Given the description of an element on the screen output the (x, y) to click on. 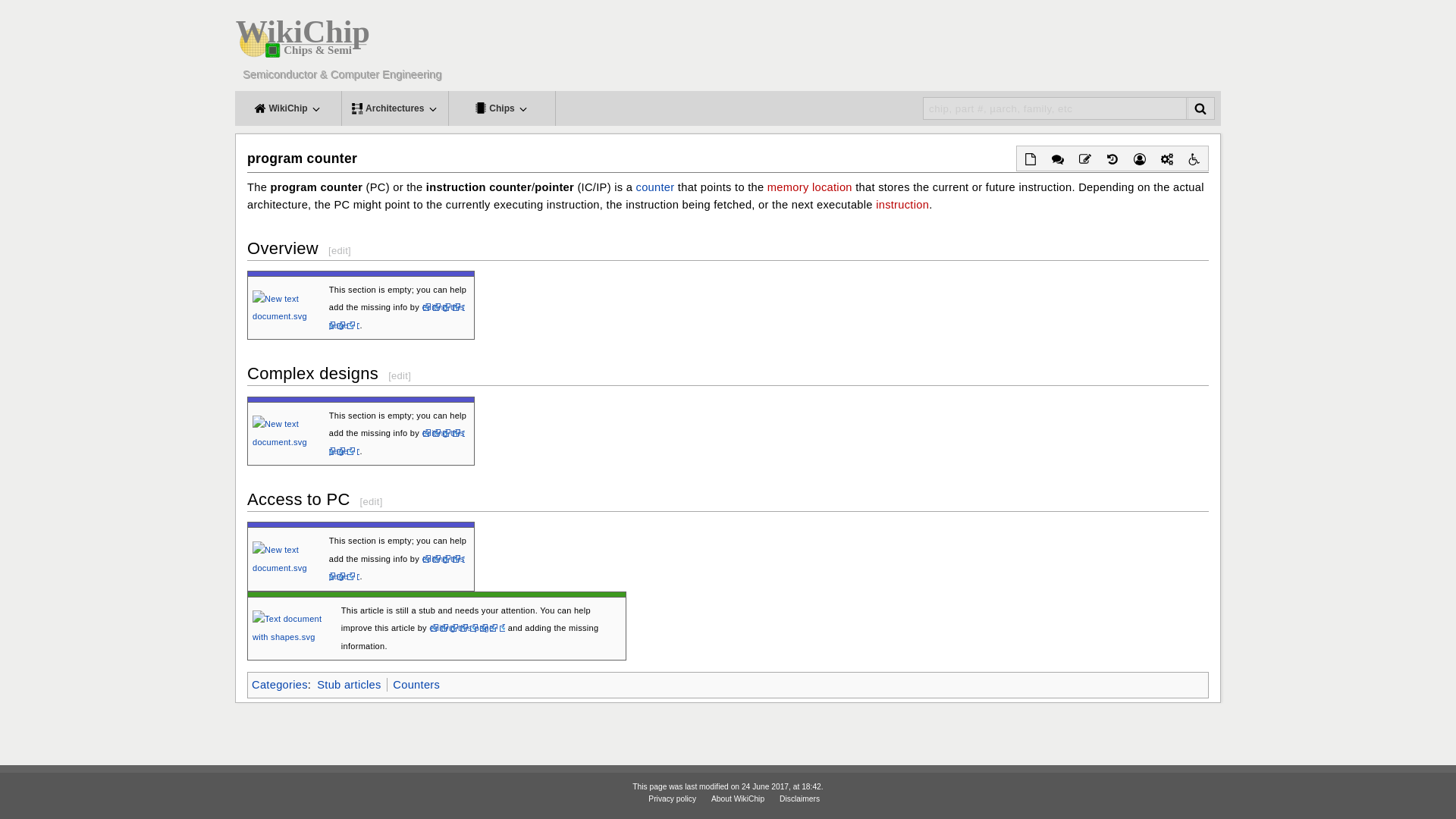
Edit section: Complex designs (399, 375)
Edit section: Overview (339, 250)
Category:Stub articles (348, 684)
 WikiChip  (287, 108)
 Architectures  (395, 108)
Category:Counters (416, 684)
counter (655, 186)
Special:Categories (279, 684)
Edit section: Access to PC (370, 501)
